Given the description of an element on the screen output the (x, y) to click on. 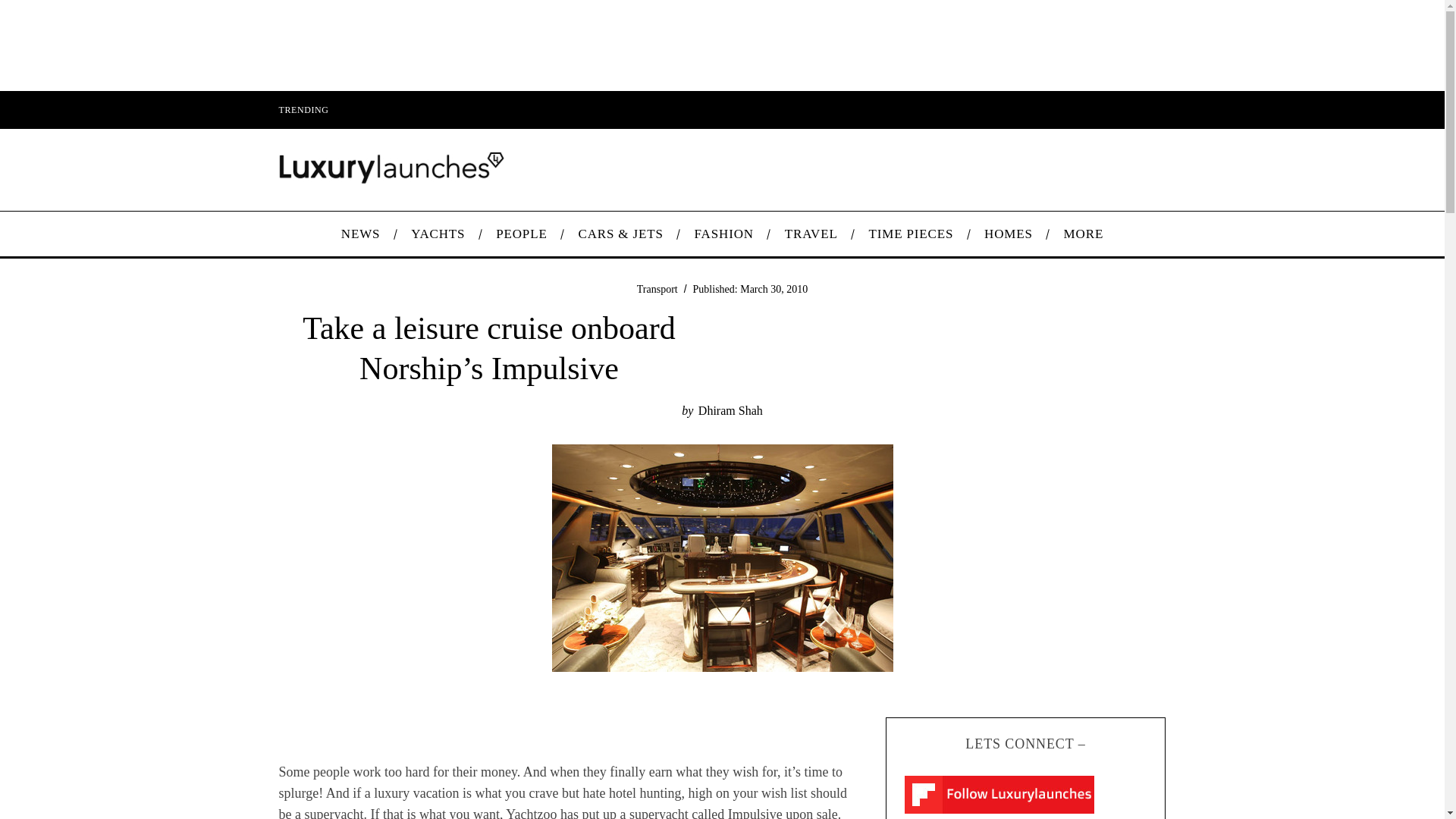
PEOPLE (521, 233)
Transport (657, 288)
TIME PIECES (911, 233)
TRENDING (302, 109)
Dhiram Shah (730, 410)
MORE (1083, 233)
TRAVEL (810, 233)
YACHTS (438, 233)
FASHION (723, 233)
HOMES (1008, 233)
